Given the description of an element on the screen output the (x, y) to click on. 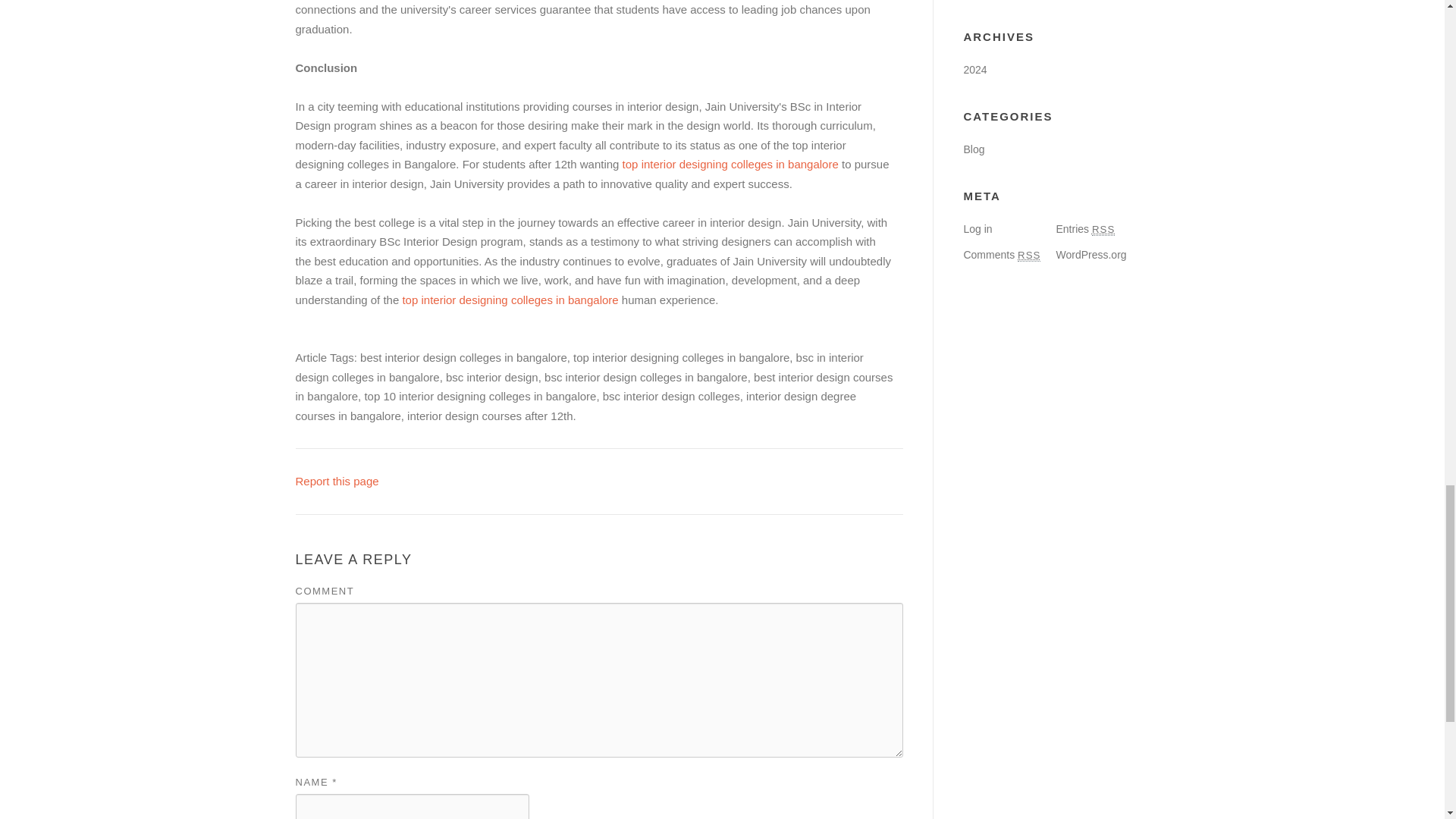
Really Simple Syndication (1103, 229)
top interior designing colleges in bangalore (509, 299)
Report this page (336, 481)
WordPress.org (1090, 254)
Really Simple Syndication (1029, 255)
Comments RSS (1001, 254)
Entries RSS (1085, 228)
Log in (976, 228)
Blog (973, 149)
2024 (974, 69)
